Given the description of an element on the screen output the (x, y) to click on. 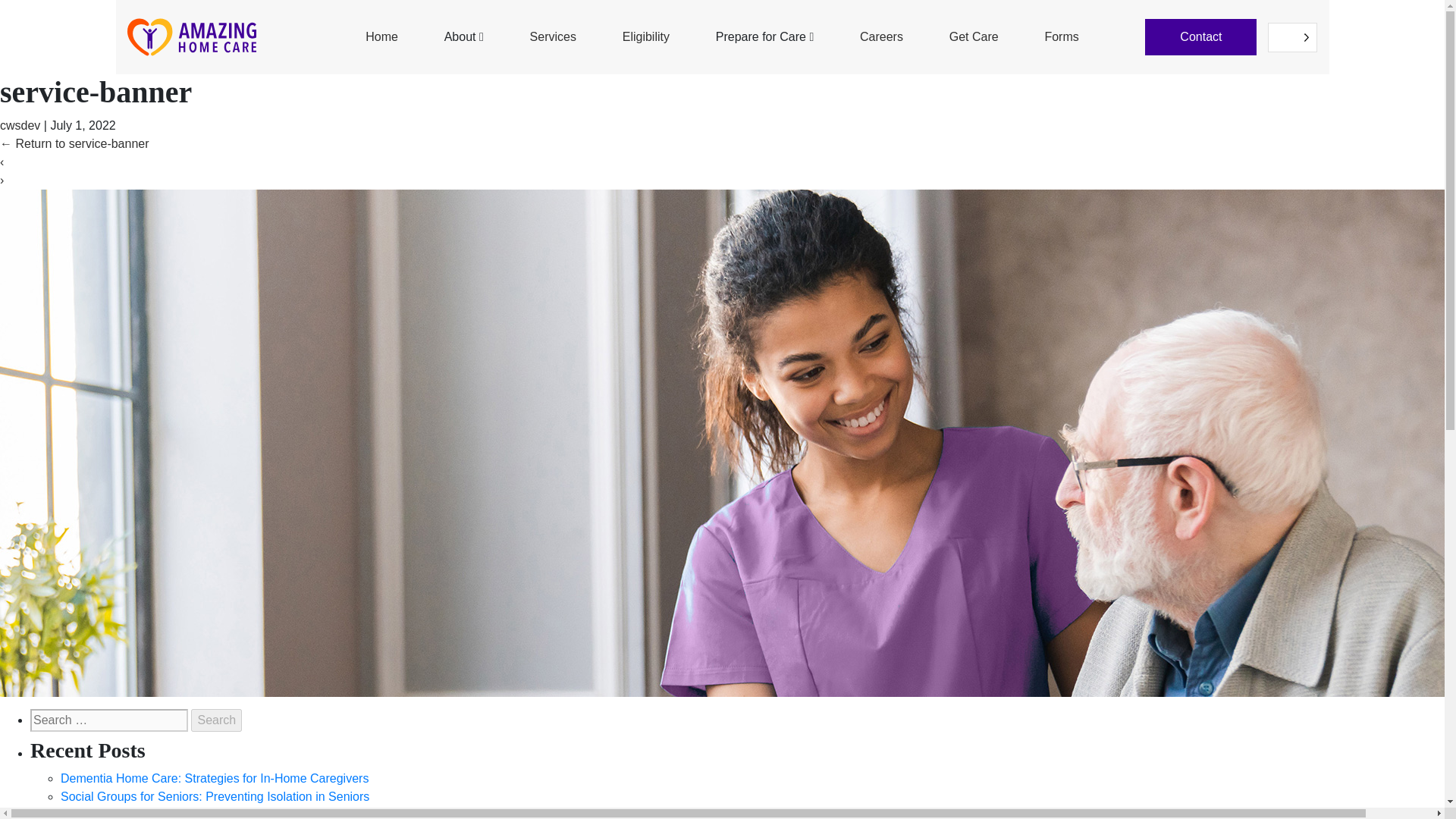
Eligibility (646, 37)
Search (215, 720)
Services (552, 37)
Get Care (973, 37)
Search (215, 720)
Home (381, 37)
Posts by cwsdev (20, 124)
Careers (881, 37)
Prepare for Care (764, 37)
Contact (1200, 36)
About (463, 37)
Forms (1060, 37)
Return to service-banner (74, 143)
cwsdev (20, 124)
